Given the description of an element on the screen output the (x, y) to click on. 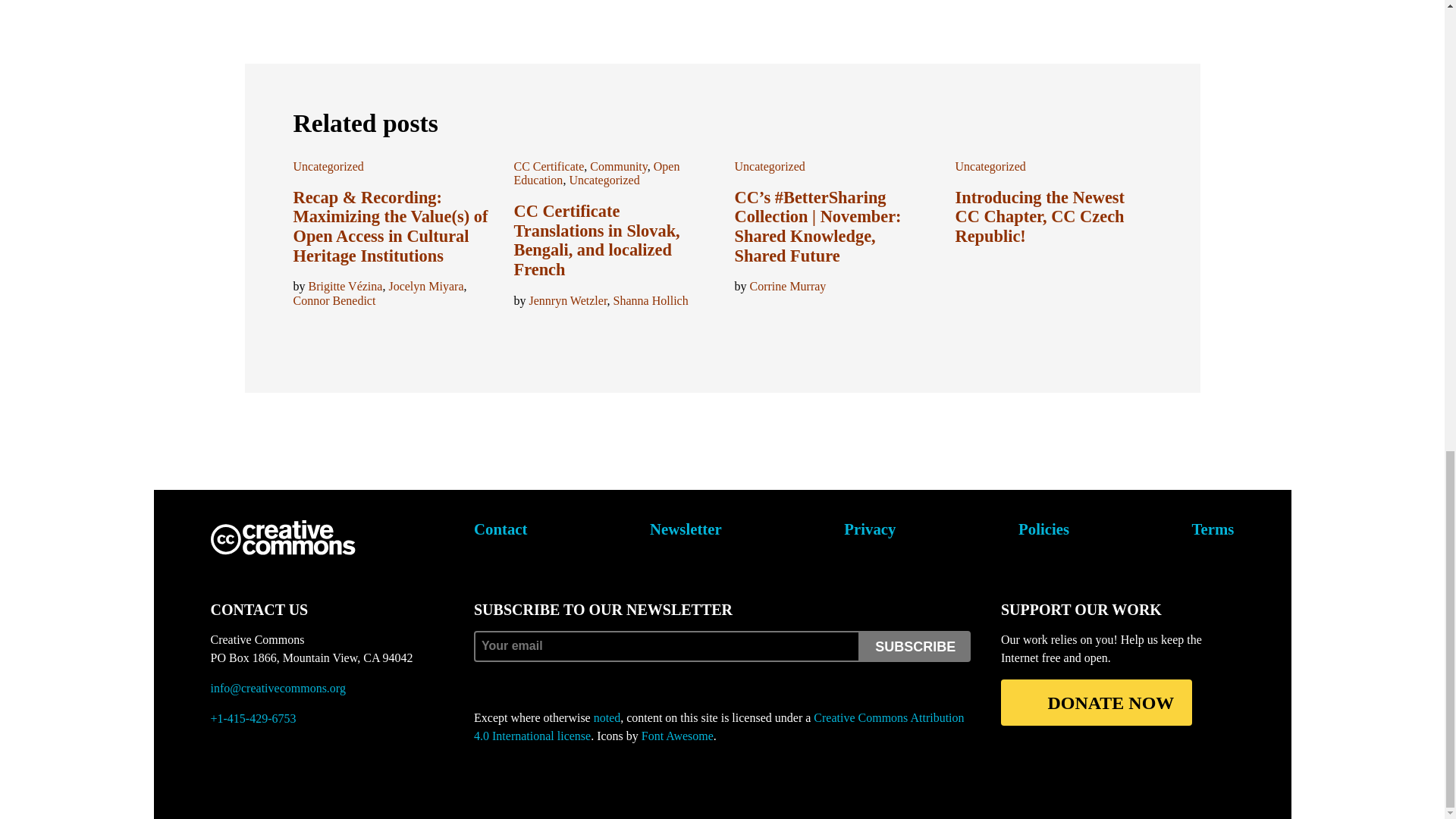
Jennryn Wetzler (568, 300)
Uncategorized (327, 165)
CC Certificate (549, 165)
Shanna Hollich (650, 300)
Jocelyn Miyara (425, 286)
subscribe (915, 645)
Connor Benedict (333, 300)
